Given the description of an element on the screen output the (x, y) to click on. 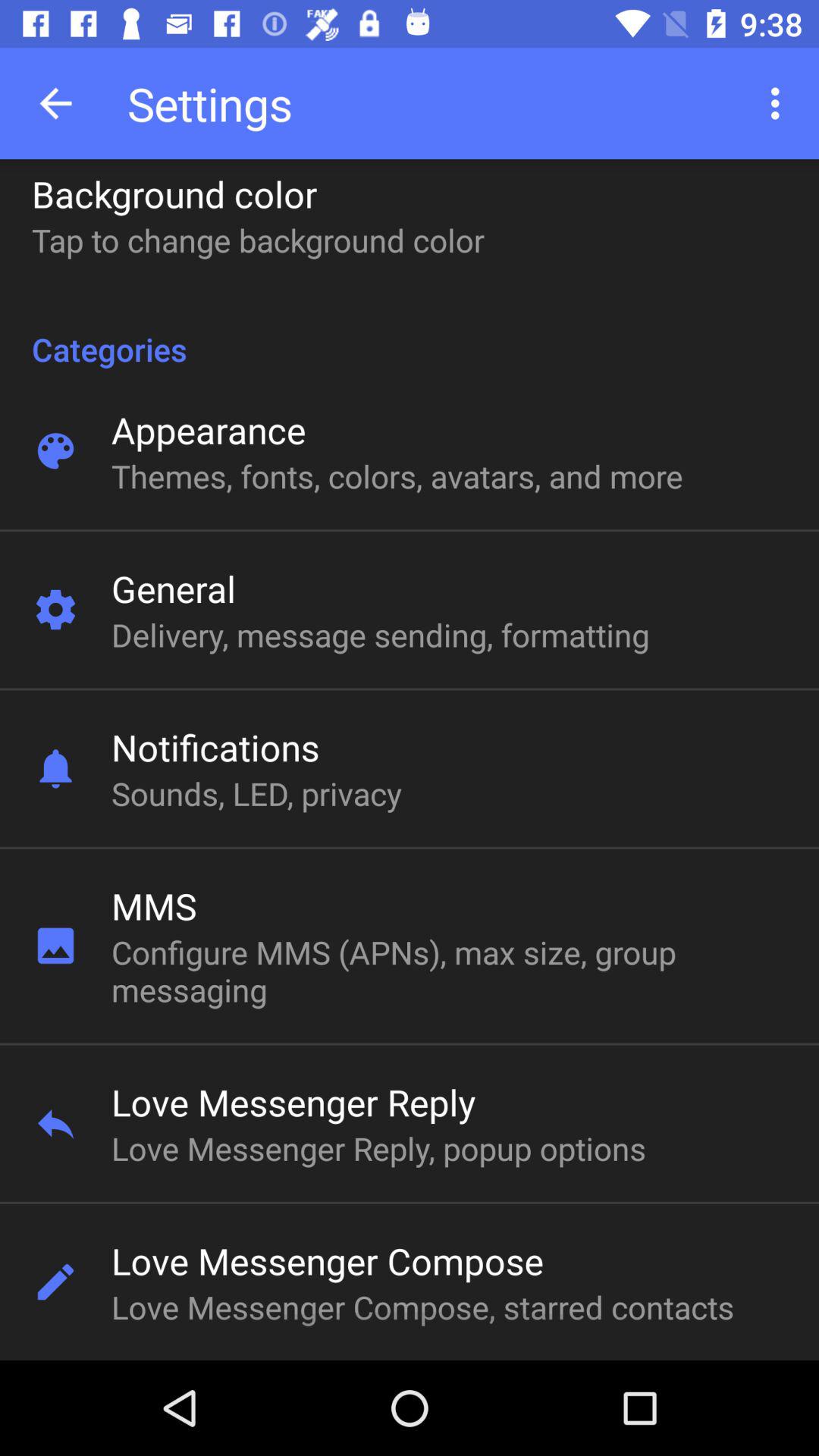
jump to the general item (173, 588)
